Given the description of an element on the screen output the (x, y) to click on. 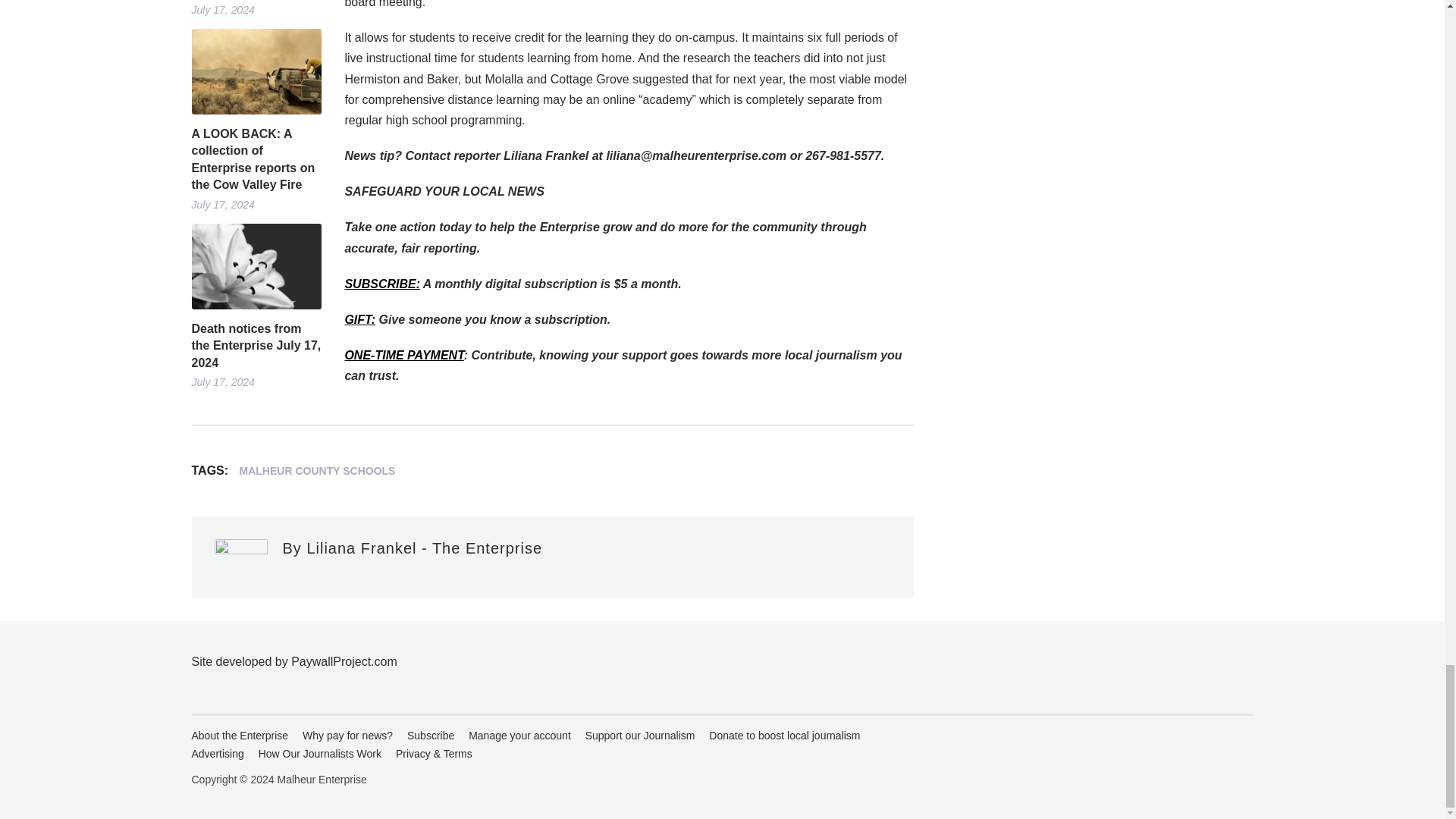
Permalink to Death notices from the Enterprise July 17, 2024 (255, 346)
Death notices from the Enterprise July 17, 2024 (255, 346)
Posts by By Liliana Frankel - The Enterprise (411, 547)
Permalink to Death notices from the Enterprise July 17, 2024 (255, 266)
